Given the description of an element on the screen output the (x, y) to click on. 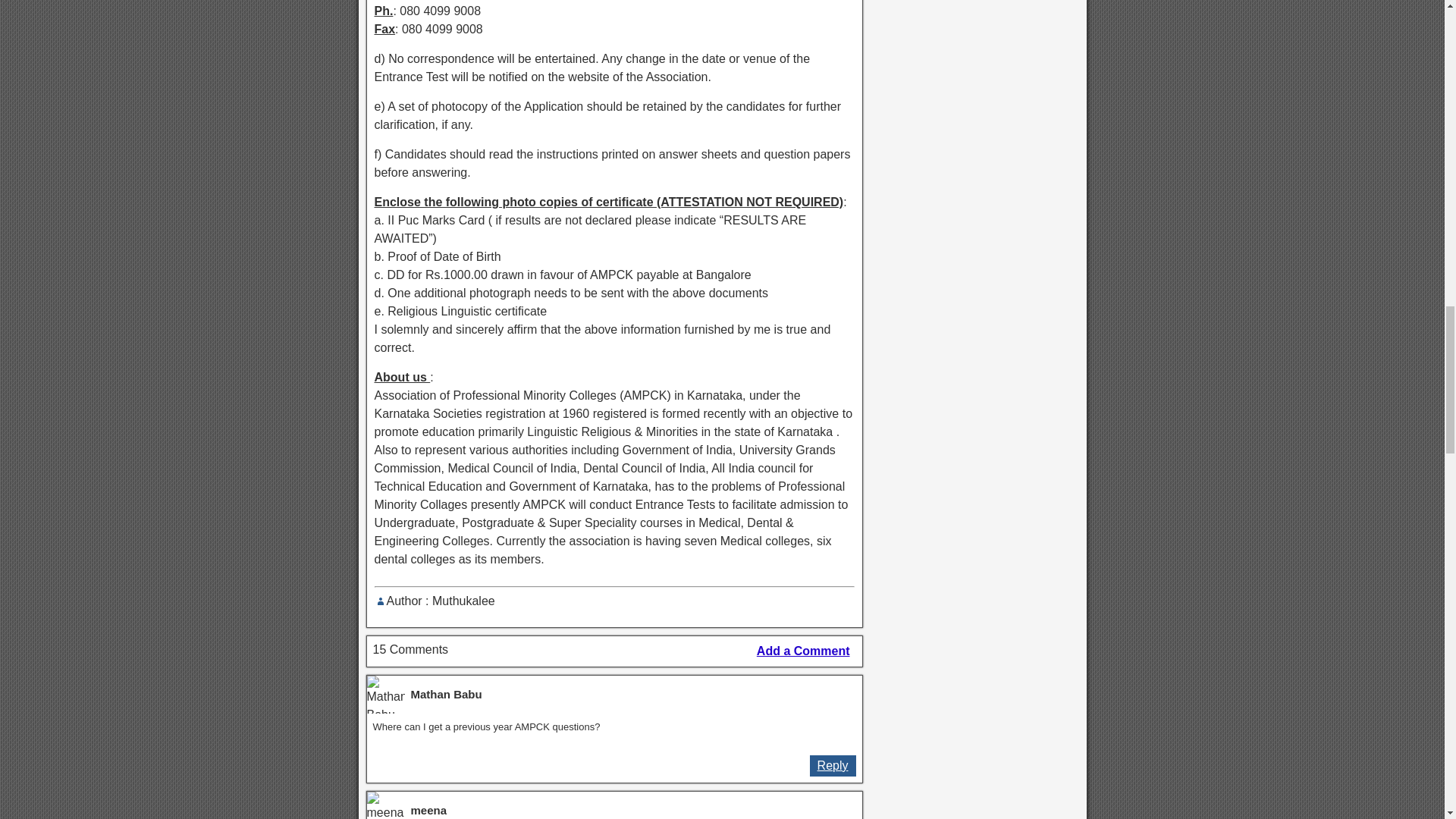
Add a Comment (803, 651)
Reply (832, 765)
